Given the description of an element on the screen output the (x, y) to click on. 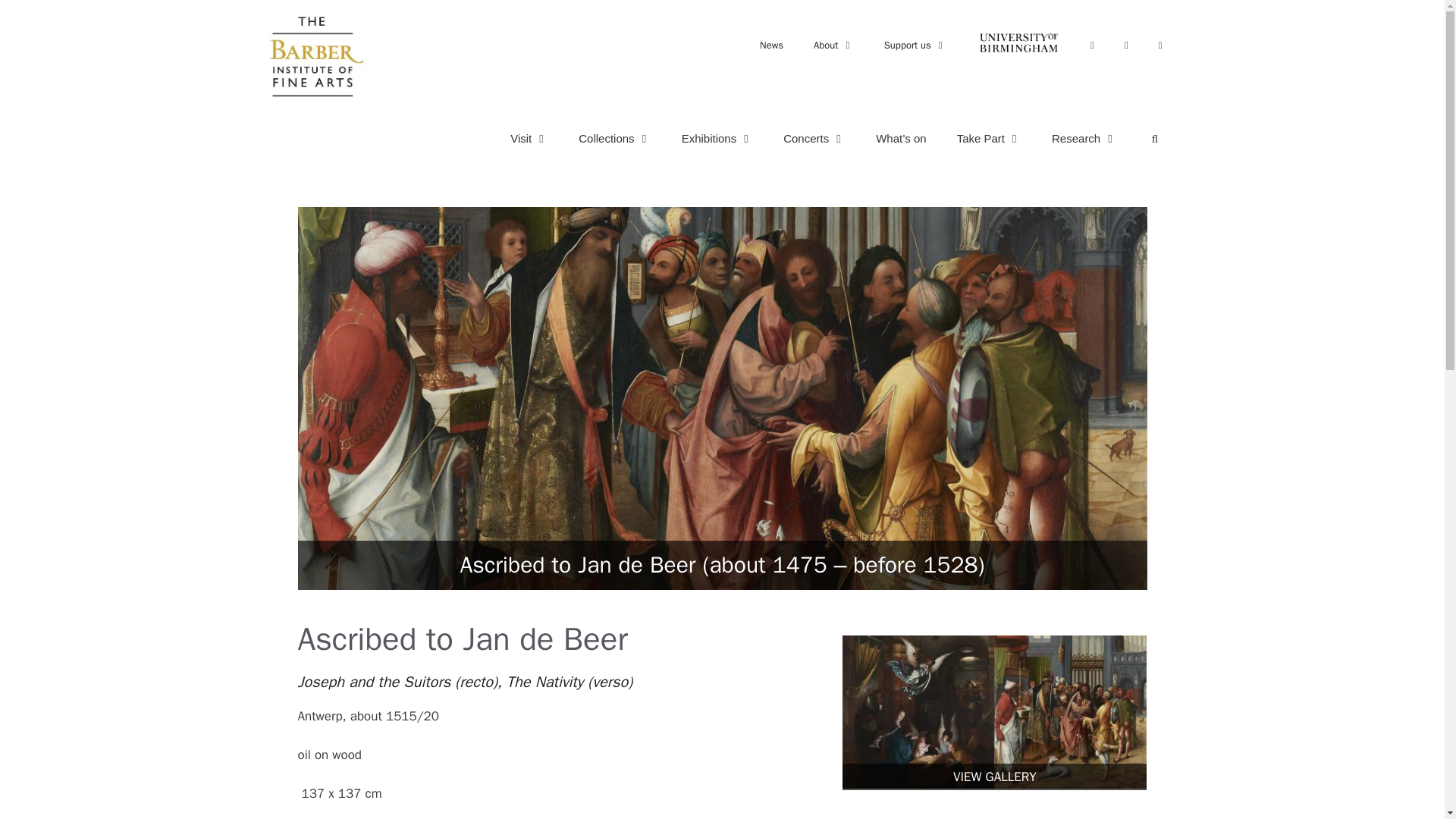
News (770, 45)
About (833, 45)
Visit (529, 138)
Support us (914, 45)
Collections (614, 138)
Concerts (814, 138)
Exhibitions (717, 138)
